Given the description of an element on the screen output the (x, y) to click on. 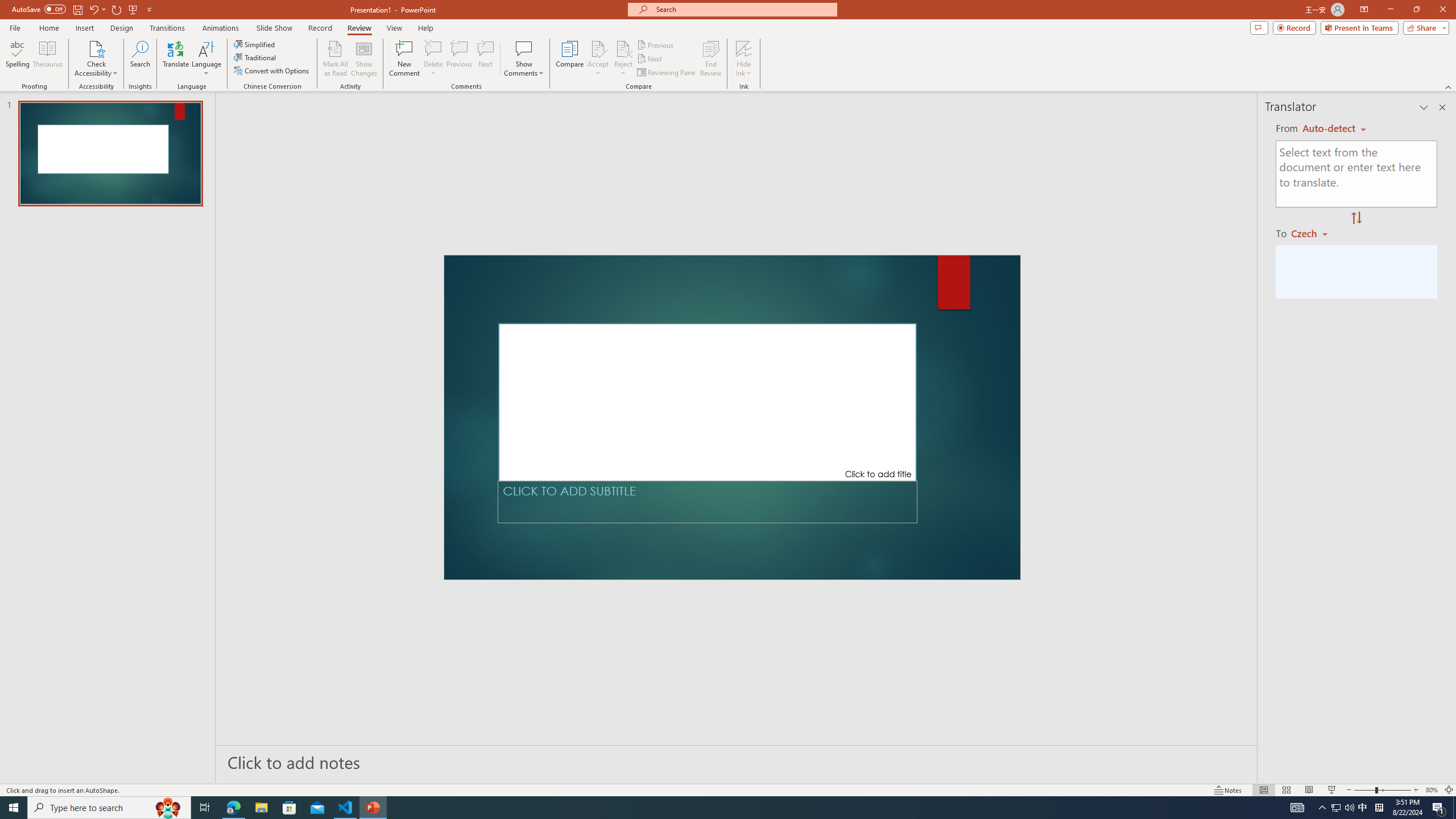
Czech (1313, 232)
Auto-detect (1334, 128)
